Given the description of an element on the screen output the (x, y) to click on. 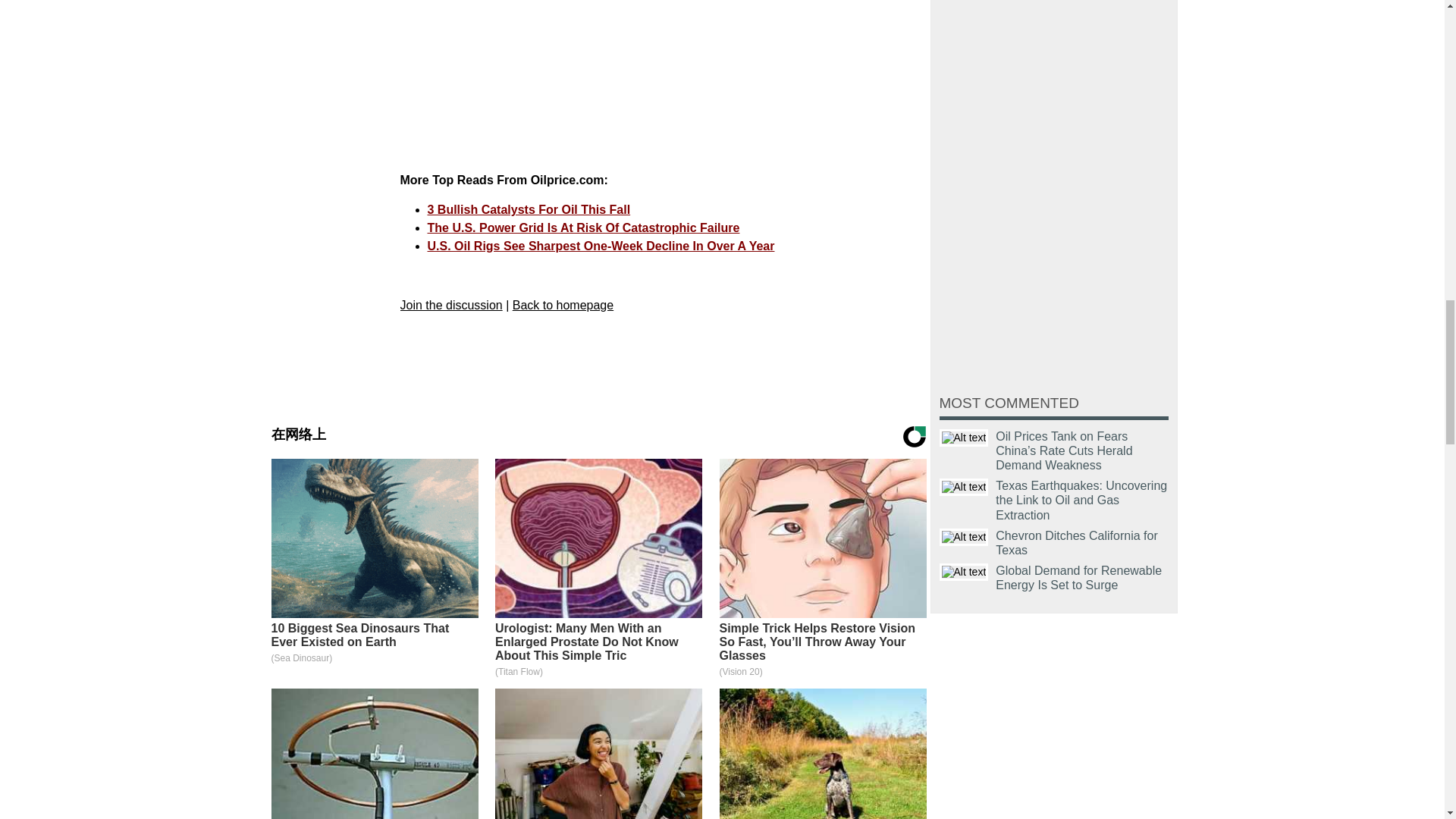
Title text (963, 437)
Title text (963, 571)
Title text (963, 537)
Title text (963, 487)
